Given the description of an element on the screen output the (x, y) to click on. 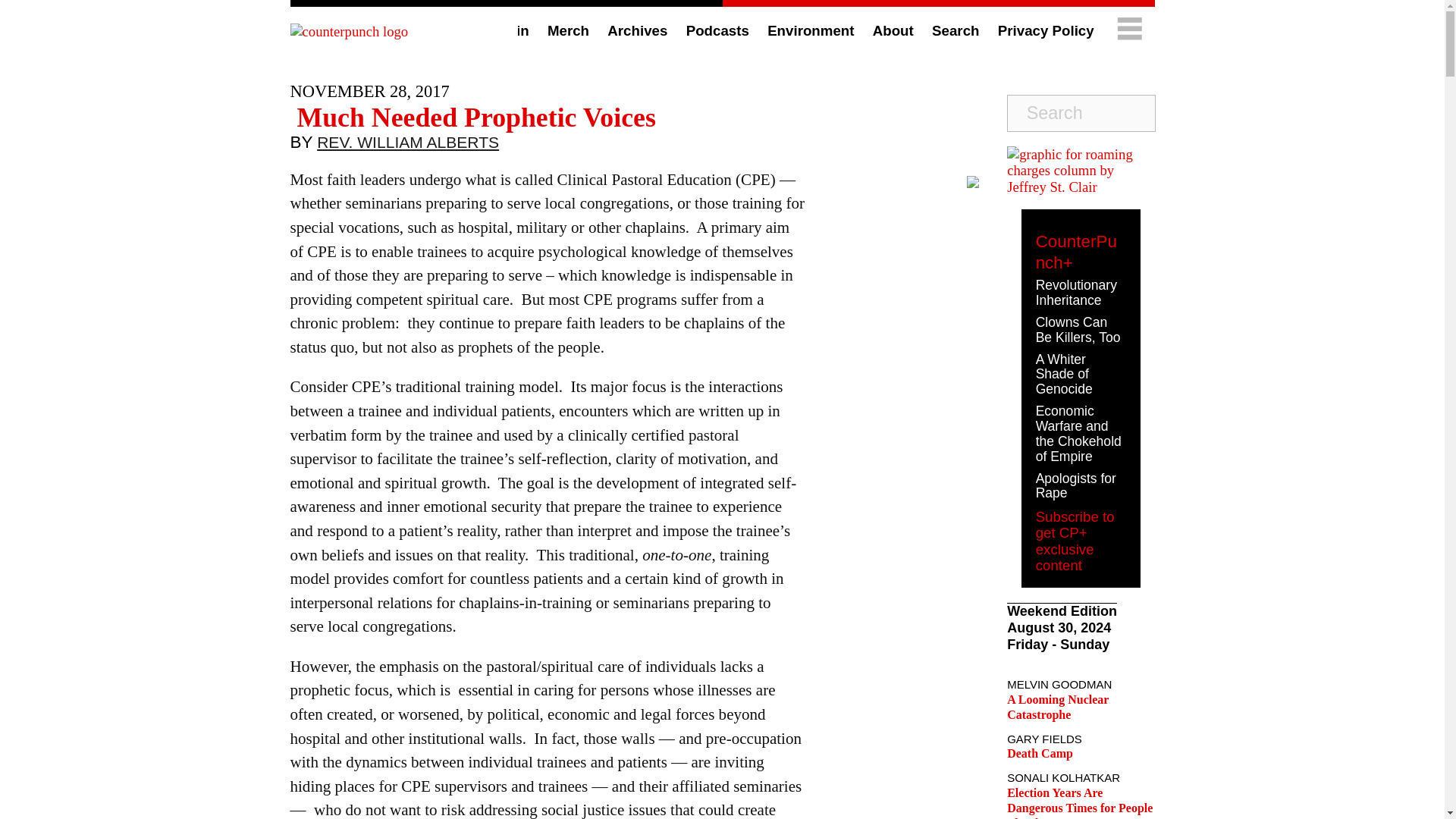
Archives (636, 30)
Podcasts (717, 30)
2017-11-28 (368, 90)
Login (509, 30)
 Much Needed Prophetic Voices (472, 117)
Search (954, 30)
About (893, 30)
Environment (810, 30)
Merch (568, 30)
Print This Post (972, 182)
